Given the description of an element on the screen output the (x, y) to click on. 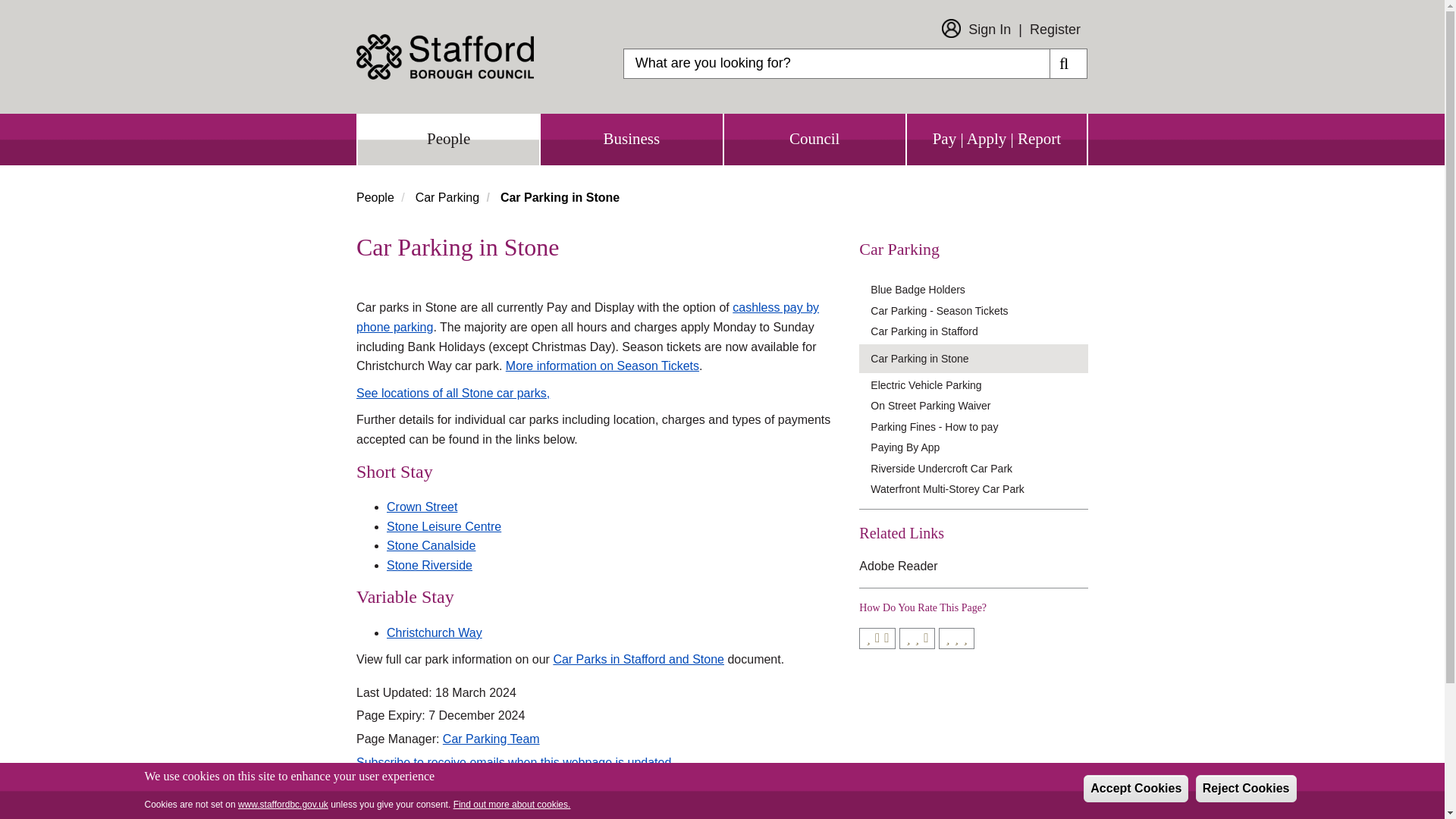
Crown Street (422, 506)
Electric Vehicle Parking (978, 384)
Electric Vehicle Parking (978, 384)
Stone Canalside Car Park (431, 545)
Accept Cookies (1135, 788)
Business (631, 139)
Riverside Undercroft Car Park (978, 467)
Blue Badge Holders (978, 289)
Council (813, 139)
People (448, 139)
Car Parking in Stone (978, 358)
Stone Riverside (429, 564)
Register (1054, 29)
Stone Riverside Car Park (429, 564)
